Given the description of an element on the screen output the (x, y) to click on. 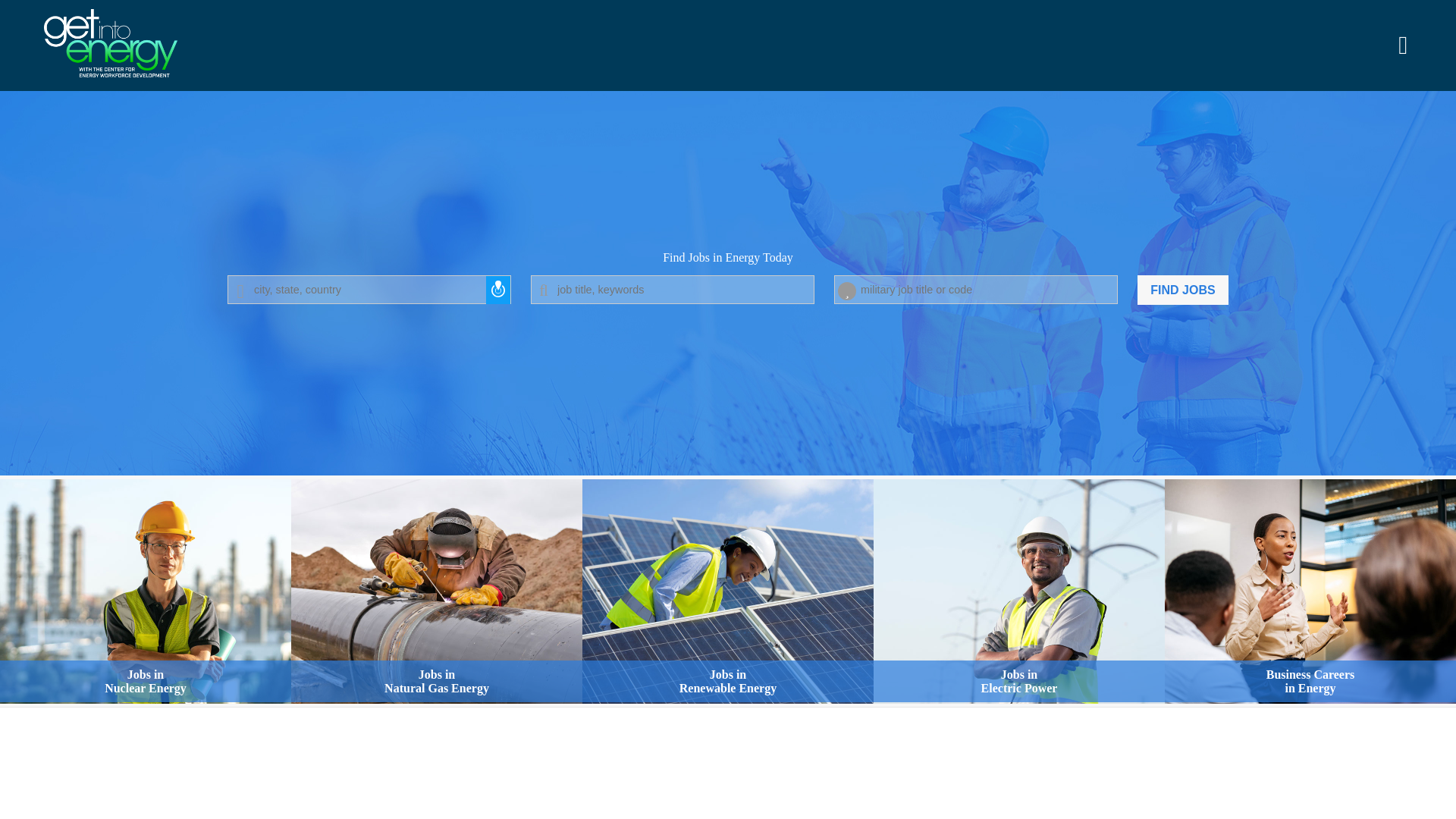
Search Location (727, 592)
FIND JOBS (369, 289)
Search MOC (1018, 592)
Search Phrase (1182, 289)
